Given the description of an element on the screen output the (x, y) to click on. 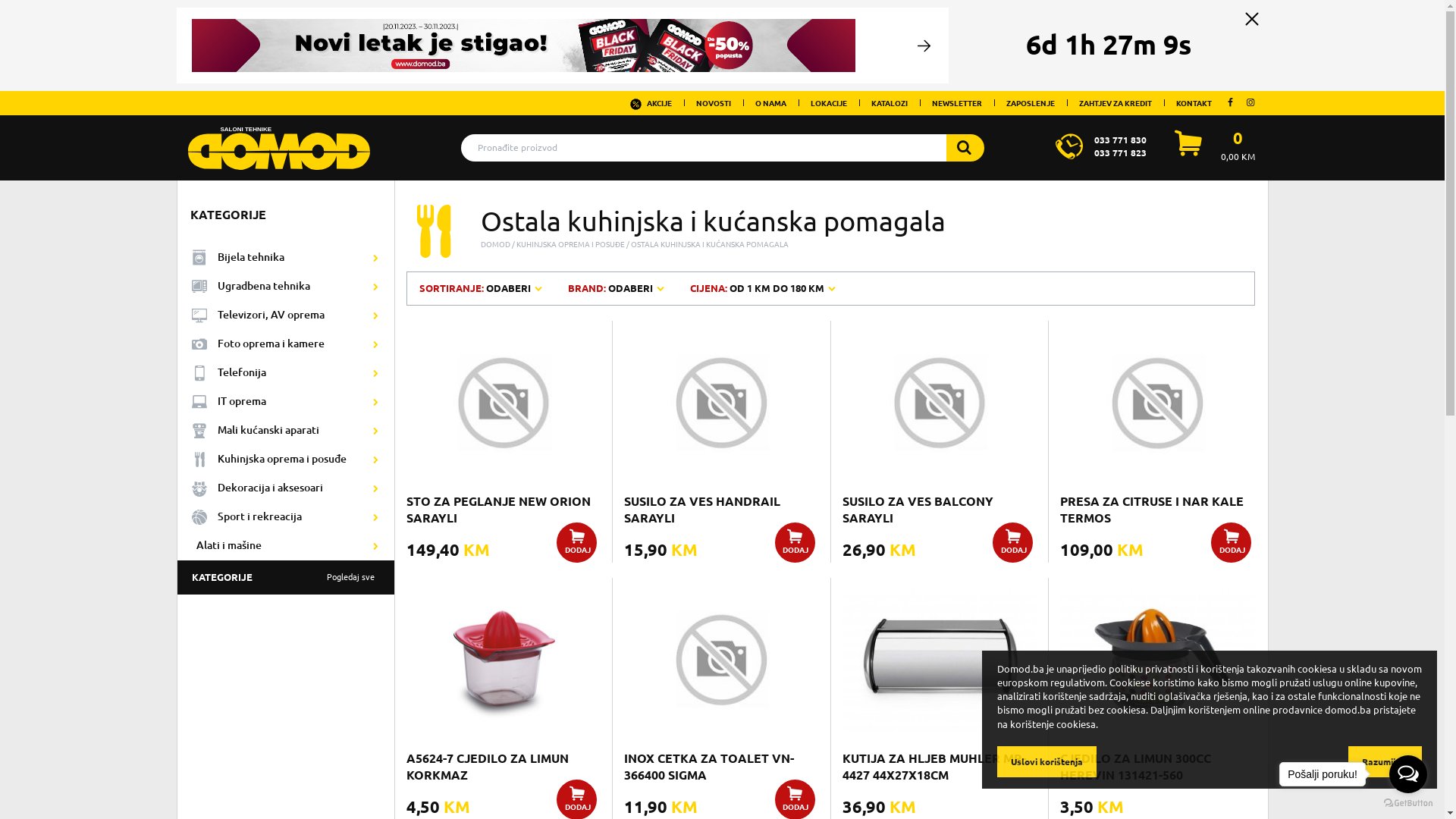
ZAHTJEV ZA KREDIT Element type: text (1115, 102)
DOMOD Element type: text (495, 243)
Bijela tehnika Element type: text (286, 257)
SUSILO ZA VES HANDRAIL SARAYLI
15,90 KM Element type: text (721, 428)
Telefonija Element type: text (286, 372)
Domod Element type: hover (279, 142)
Moja korpa Element type: hover (1188, 151)
CIJENA: OD 1 KM DO 180 KM Element type: text (763, 288)
KATEGORIJE Pogledaj sve Element type: text (286, 577)
DODAJ Element type: text (795, 542)
Razumijem Element type: text (1384, 761)
BRAND: ODABERI Element type: text (616, 288)
NEWSLETTER Element type: text (956, 102)
DODAJ Element type: text (1012, 542)
KONTAKT Element type: text (1193, 102)
DODAJ Element type: text (1231, 542)
SUSILO ZA VES BALCONY SARAYLI
26,90 KM Element type: text (939, 428)
NOVOSTI Element type: text (713, 102)
CJEDILO ZA LIMUN 300CC HEREVIN 131421-560
3,50 KM Element type: text (1157, 685)
PRESA ZA CITRUSE I NAR KALE TERMOS
109,00 KM Element type: text (1157, 428)
A5624-7 CJEDILO ZA LIMUN KORKMAZ
4,50 KM Element type: text (503, 685)
KUTIJA ZA HLJEB MUHLER MR-4427 44X27X18CM
36,90 KM Element type: text (939, 685)
Foto oprema i kamere Element type: text (286, 343)
Televizori, AV oprema Element type: text (286, 315)
Dekoracija i aksesoari Element type: text (286, 487)
SORTIRANJE: ODABERI Element type: text (481, 288)
Sport i rekreacija Element type: text (286, 516)
Ugradbena tehnika Element type: text (286, 286)
O NAMA Element type: text (770, 102)
IT oprema Element type: text (286, 401)
0
0,00 KM Element type: text (1237, 144)
LOKACIJE Element type: text (828, 102)
ZAPOSLENJE Element type: text (1030, 102)
INOX CETKA ZA TOALET VN-366400 SIGMA
11,90 KM Element type: text (721, 685)
AKCIJE Element type: text (651, 102)
STO ZA PEGLANJE NEW ORION SARAYLI
149,40 KM Element type: text (503, 428)
KATALOZI Element type: text (889, 102)
DODAJ Element type: text (576, 542)
